Given the description of an element on the screen output the (x, y) to click on. 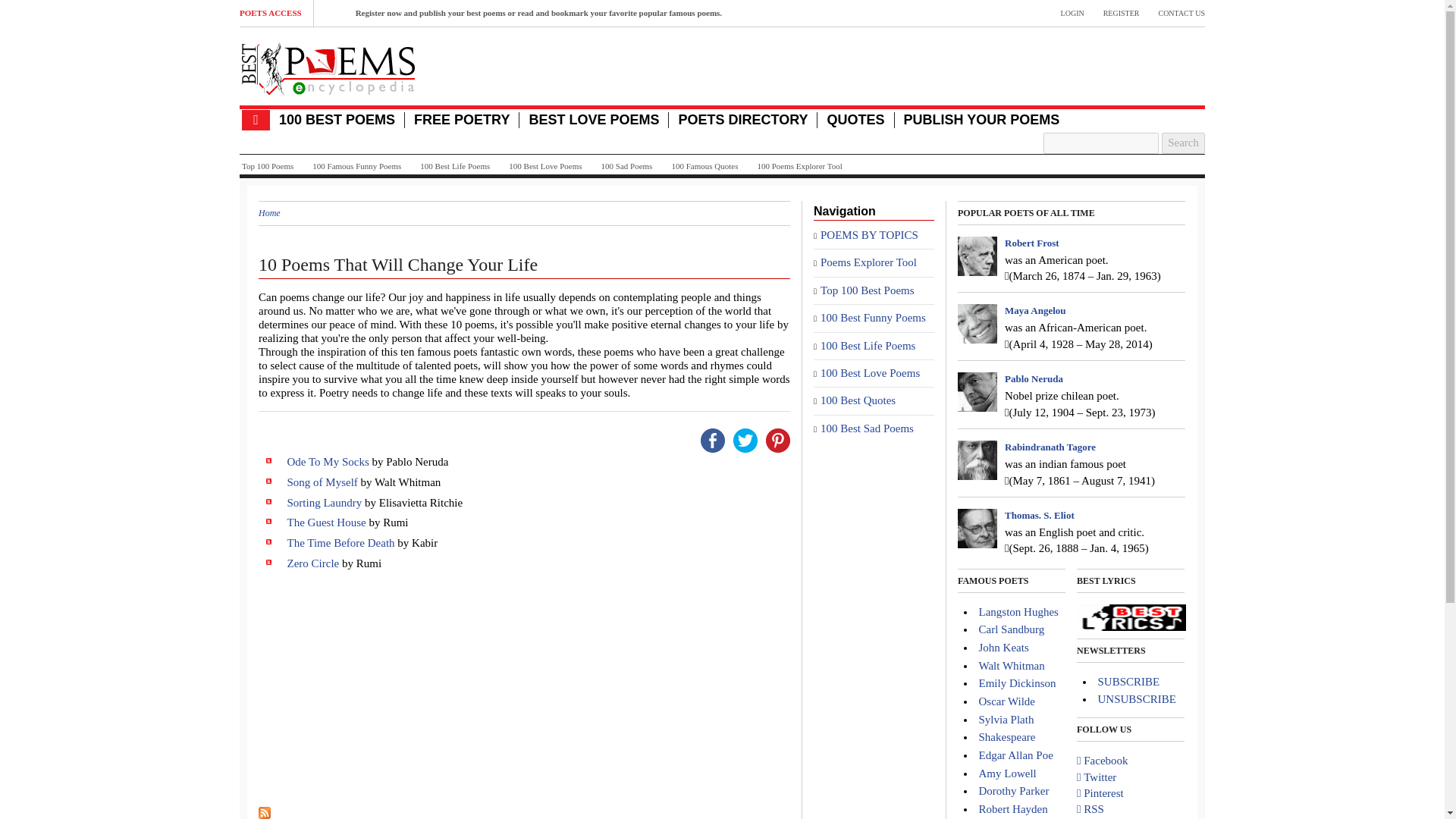
100 Famous Quotes (704, 166)
Carl Sandburg (1010, 629)
100 Best Life Poems (454, 166)
100 Famous Funny Poems (357, 166)
The Time Before Death (340, 542)
The Guest House (325, 522)
Top 100 Poems (267, 166)
Langston Hughes (1018, 612)
Walt Whitman (1010, 665)
100 BEST POEMS (336, 119)
REGISTER (1121, 13)
John Keats (1002, 647)
Top 100 Best POems (867, 290)
Share on Facebook (712, 439)
